Given the description of an element on the screen output the (x, y) to click on. 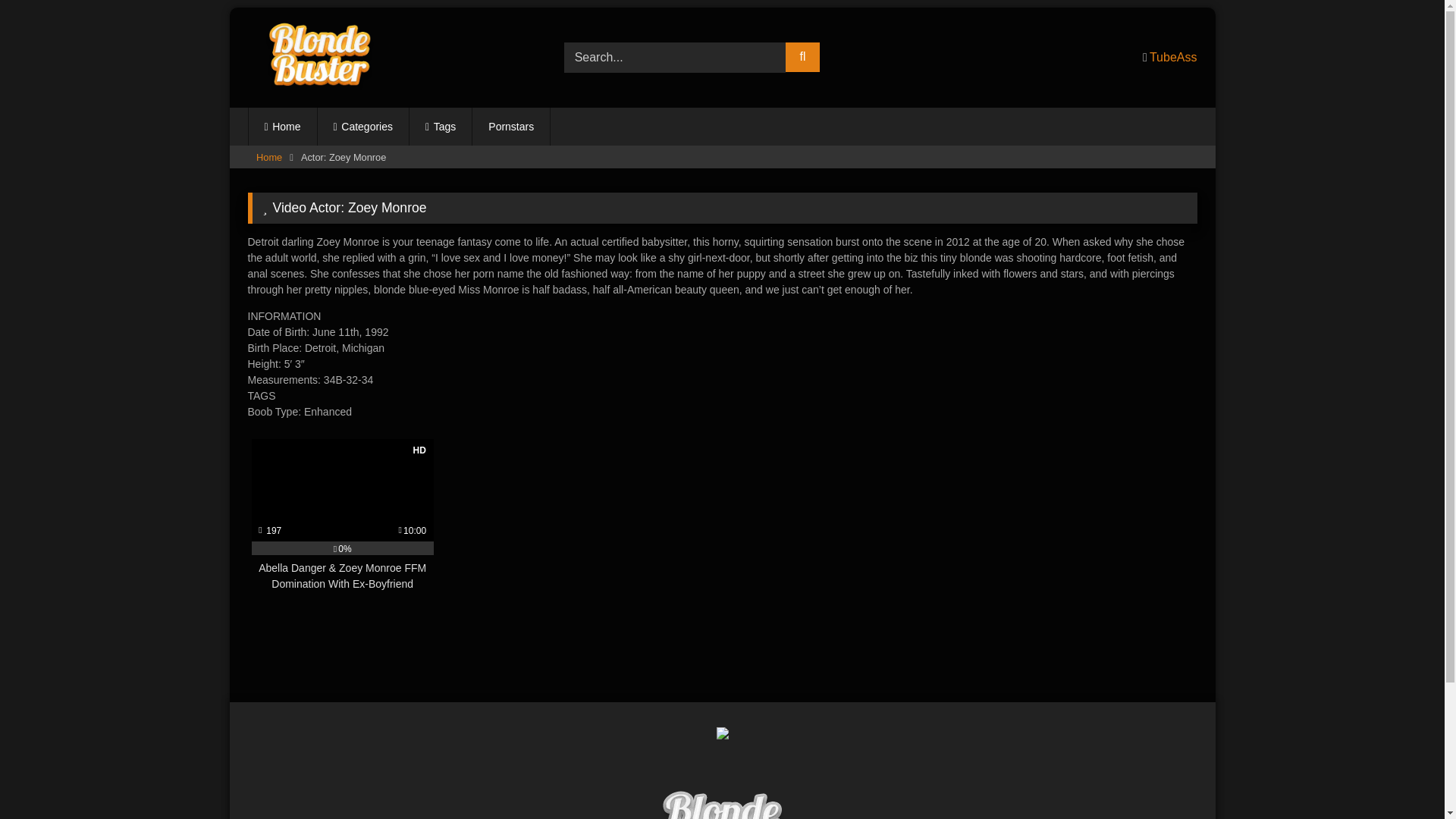
Home (269, 157)
Tags (440, 126)
TubeAss (1173, 56)
Categories (363, 126)
Pornstars (510, 126)
BlondeBuster (721, 803)
Search... (675, 57)
Home (282, 126)
BlondeBuster (315, 57)
